Given the description of an element on the screen output the (x, y) to click on. 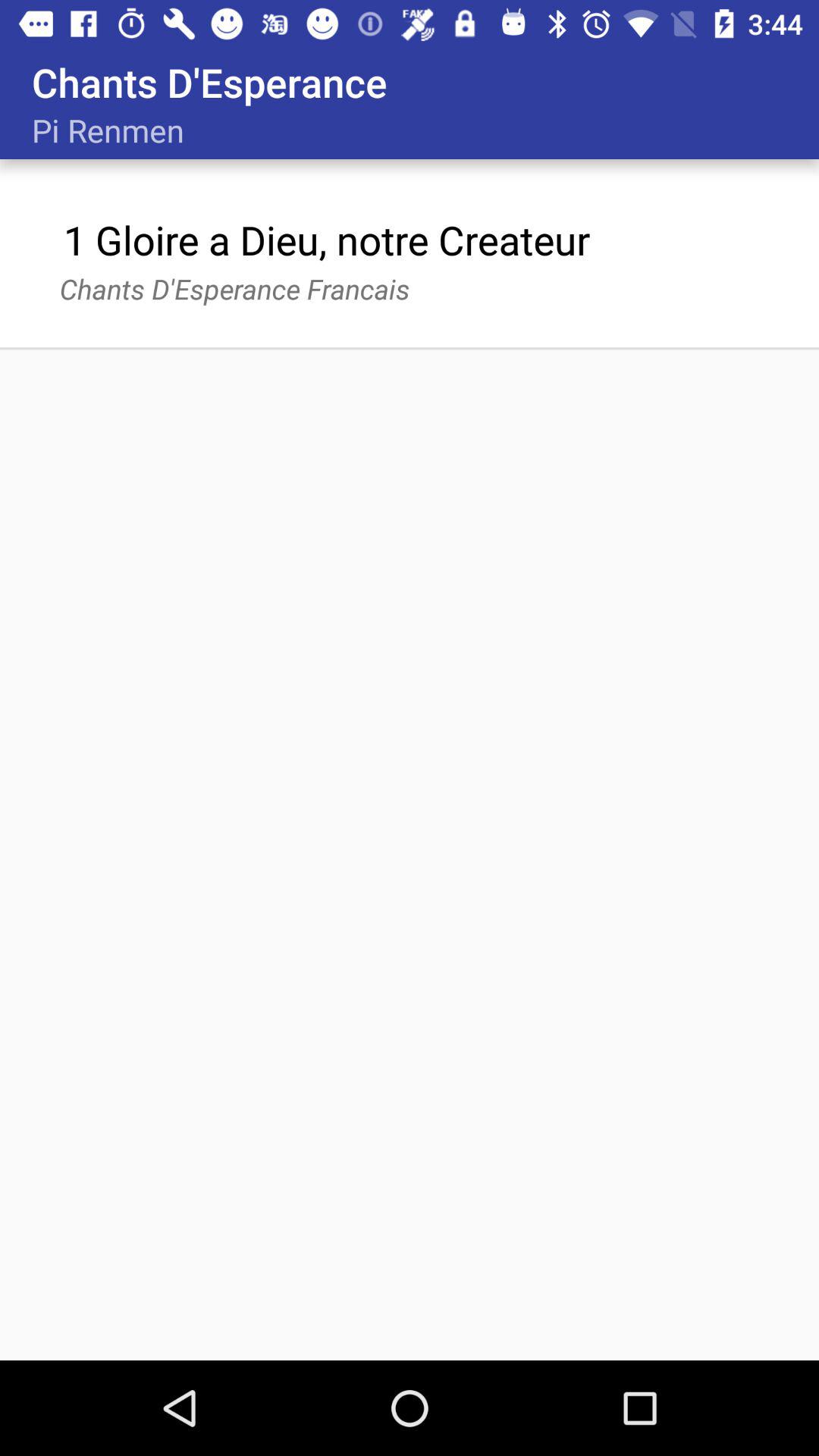
choose the 1 gloire a item (326, 239)
